Given the description of an element on the screen output the (x, y) to click on. 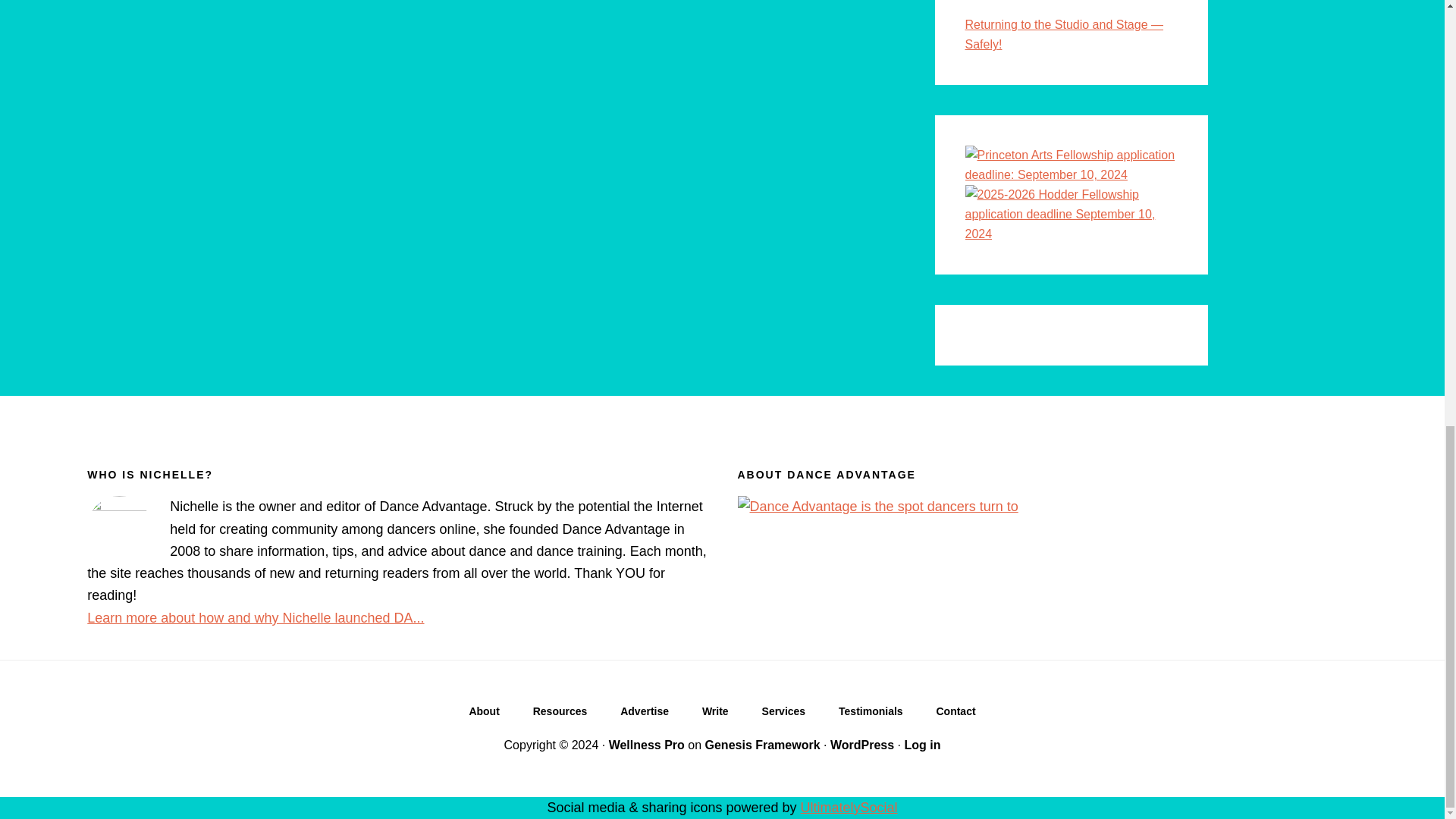
CLICK to see what makes DA tick (482, 714)
Stuff we use and like (560, 714)
